Given the description of an element on the screen output the (x, y) to click on. 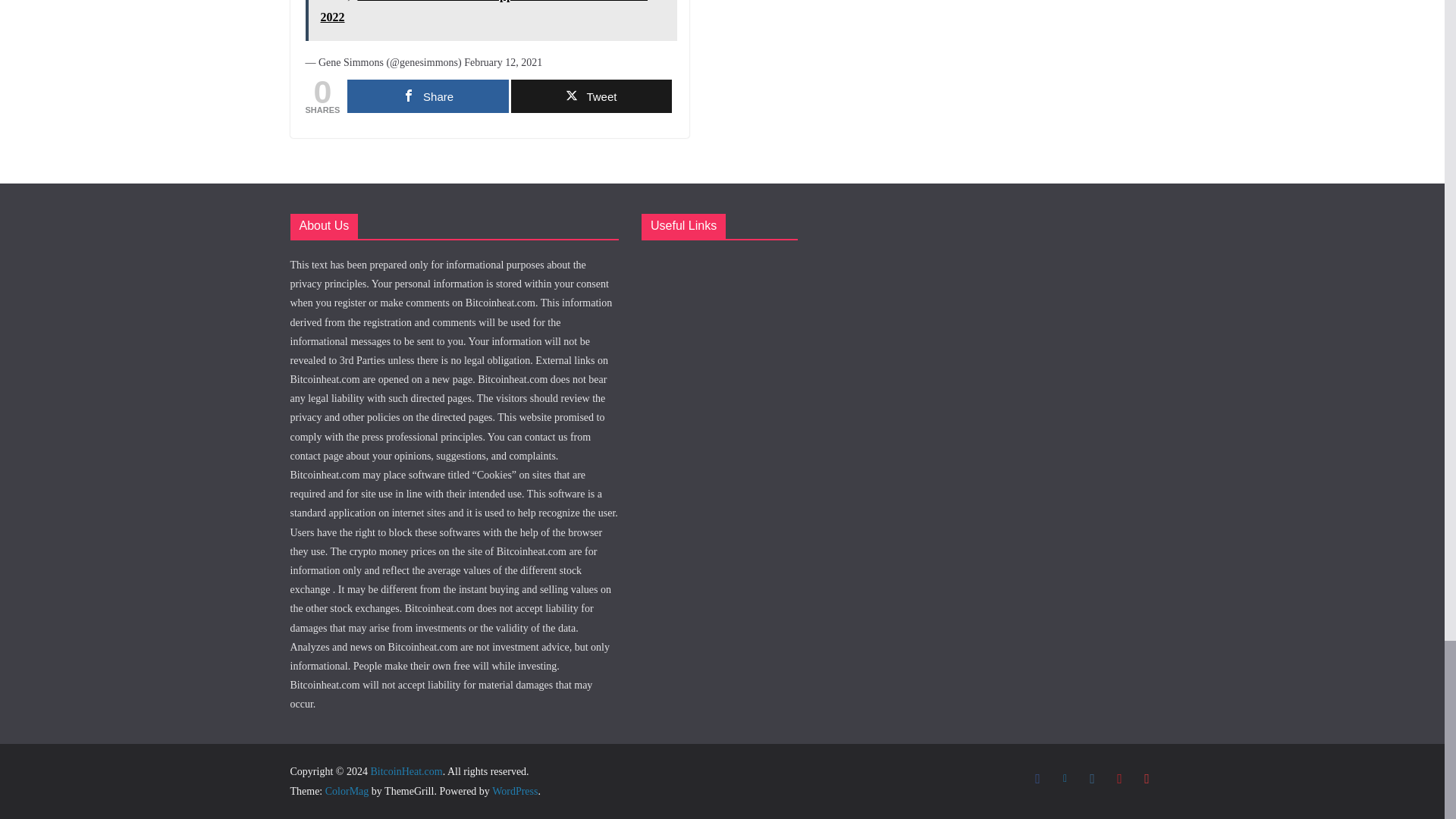
Share (427, 96)
WordPress (514, 790)
ColorMag (346, 790)
BitcoinHeat.com (405, 771)
BitcoinHeat.com (405, 771)
Tweet (591, 96)
